Given the description of an element on the screen output the (x, y) to click on. 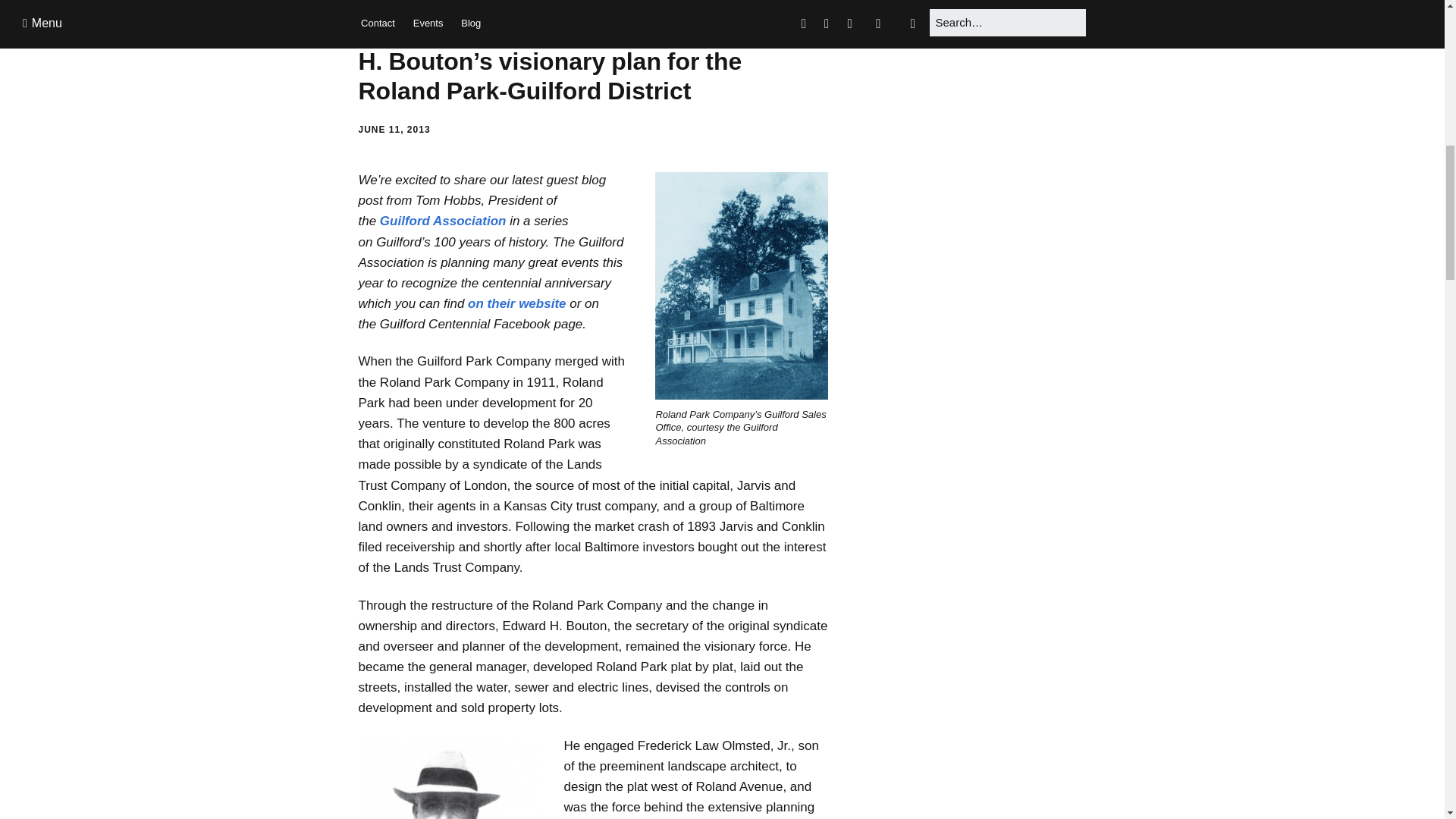
on their website (516, 303)
Guilford Association (443, 220)
